Given the description of an element on the screen output the (x, y) to click on. 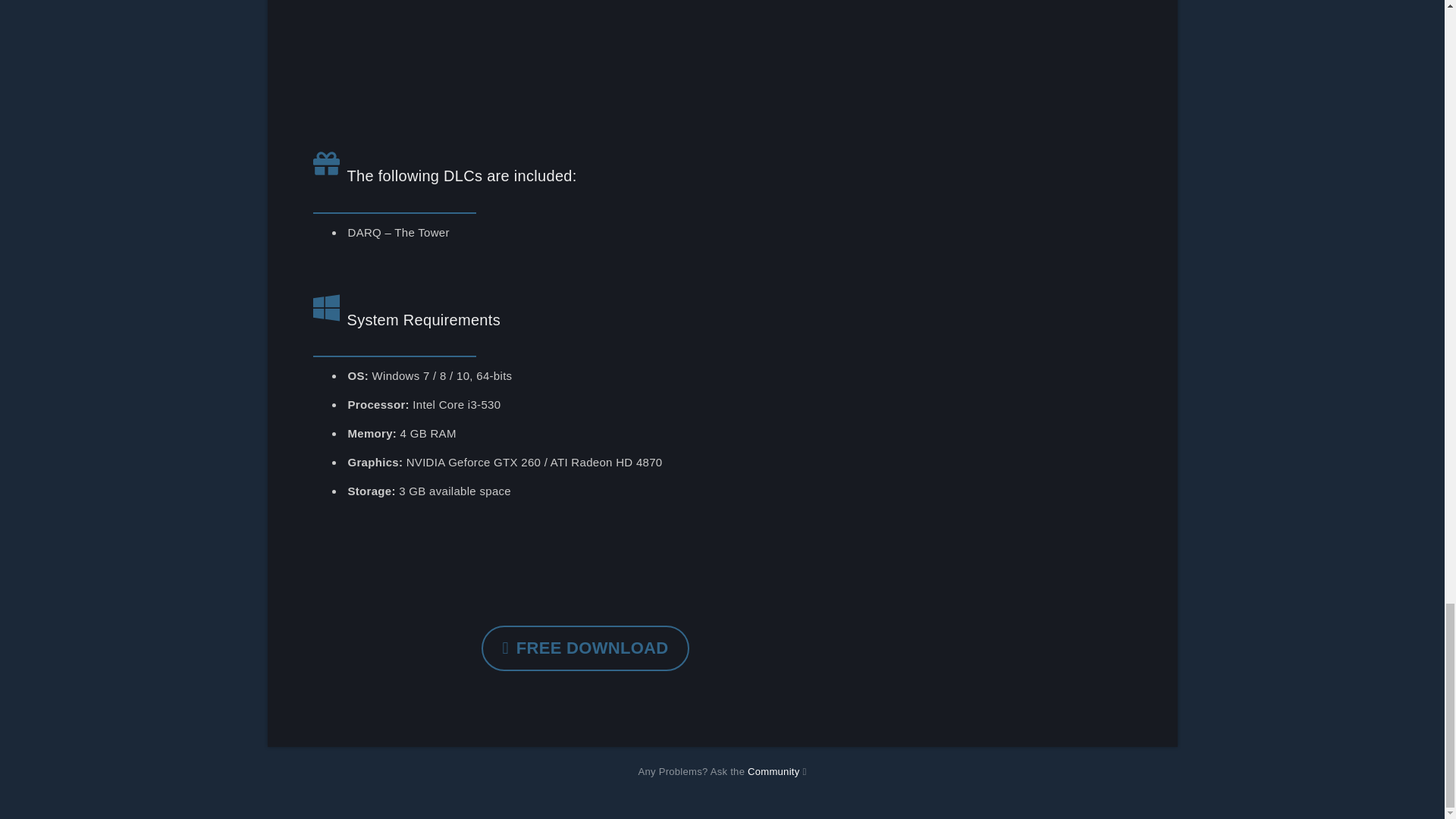
FREE DOWNLOAD (584, 647)
